Given the description of an element on the screen output the (x, y) to click on. 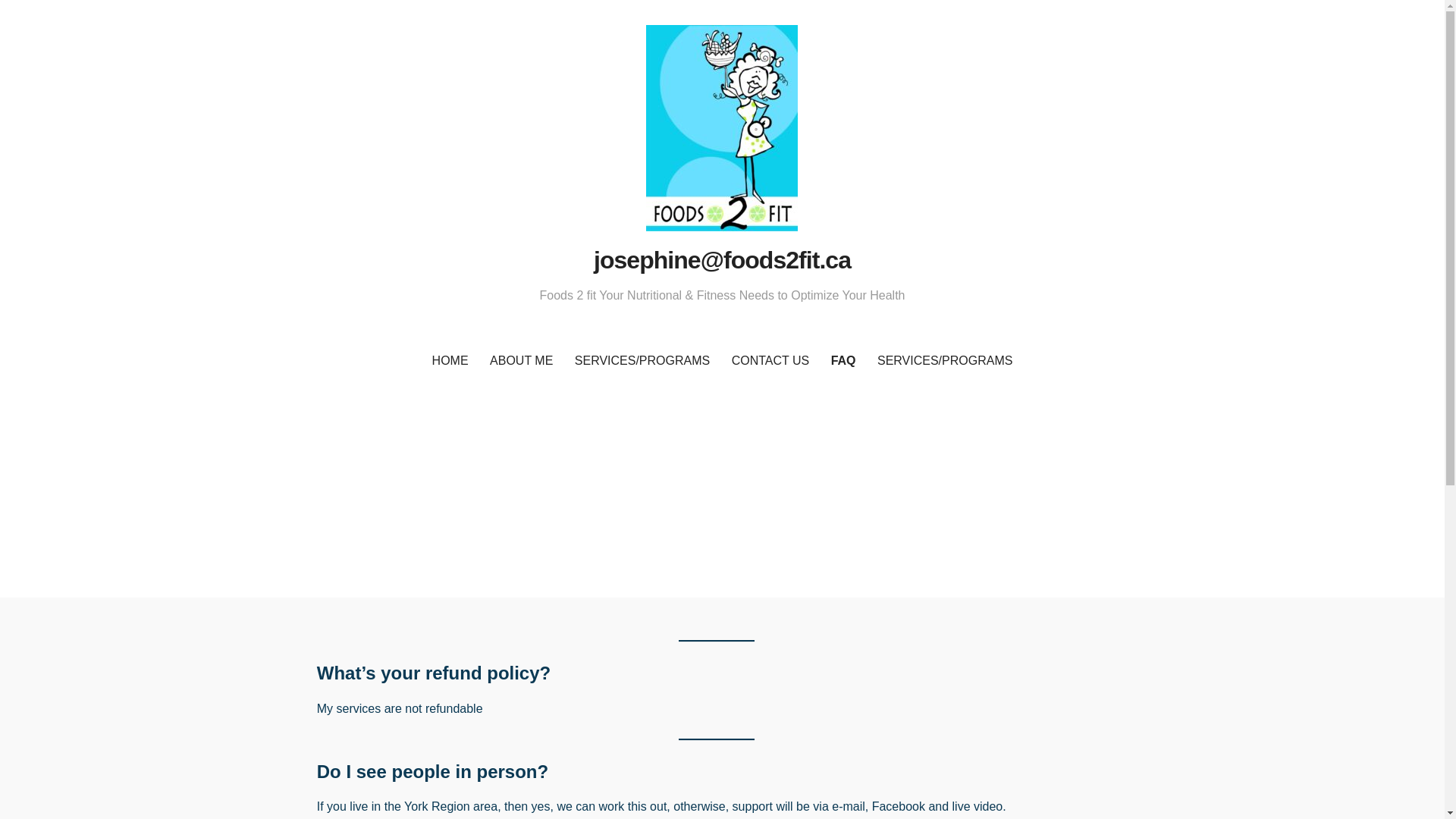
HOME (450, 361)
ABOUT ME (521, 361)
CONTACT US (770, 361)
